Given the description of an element on the screen output the (x, y) to click on. 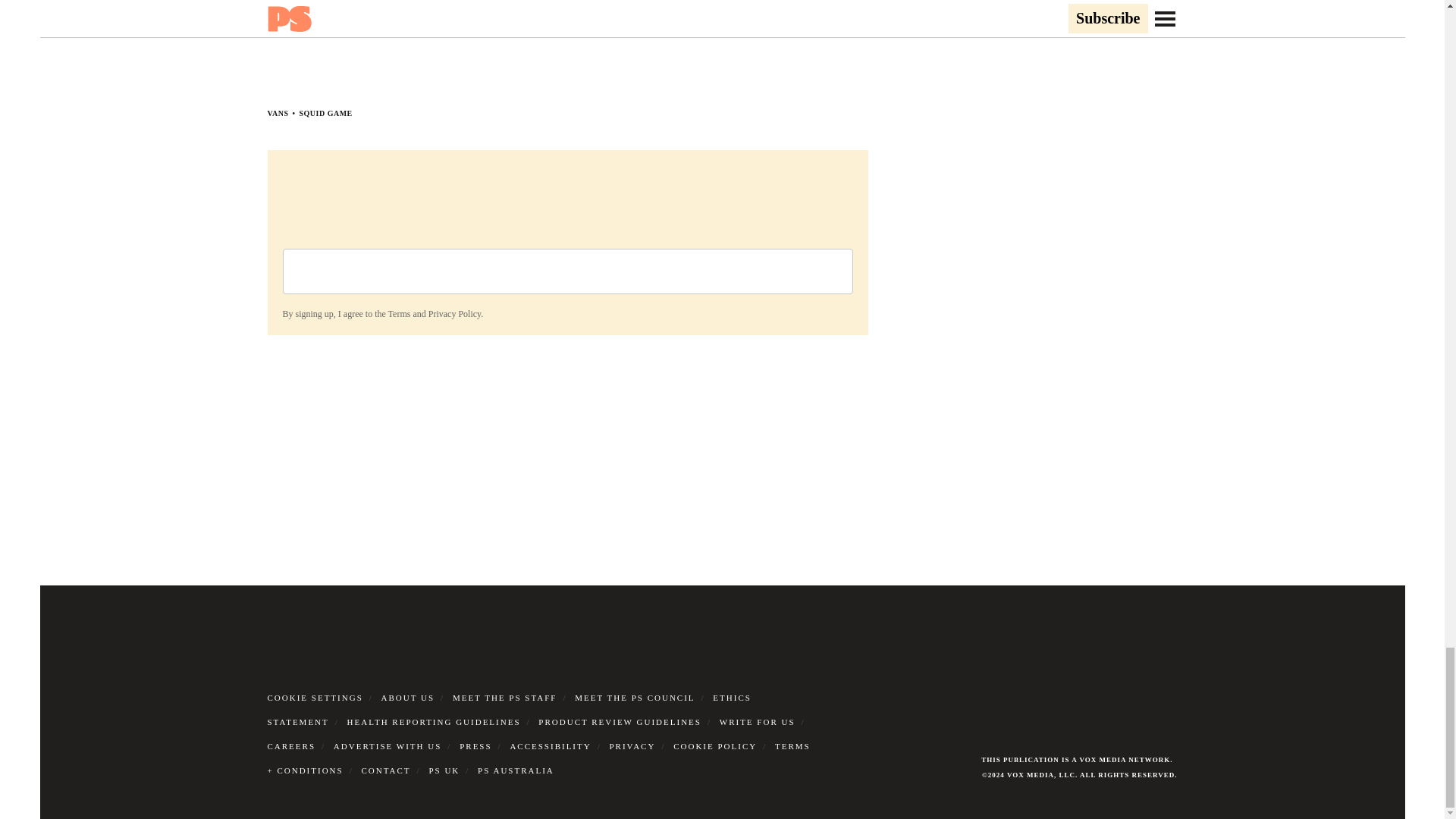
SQUID GAME (325, 112)
ETHICS STATEMENT (508, 709)
VANS (277, 112)
Privacy Policy. (455, 313)
MEET THE PS COUNCIL (634, 697)
MEET THE PS STAFF (504, 697)
ABOUT US (408, 697)
Terms (399, 313)
